Given the description of an element on the screen output the (x, y) to click on. 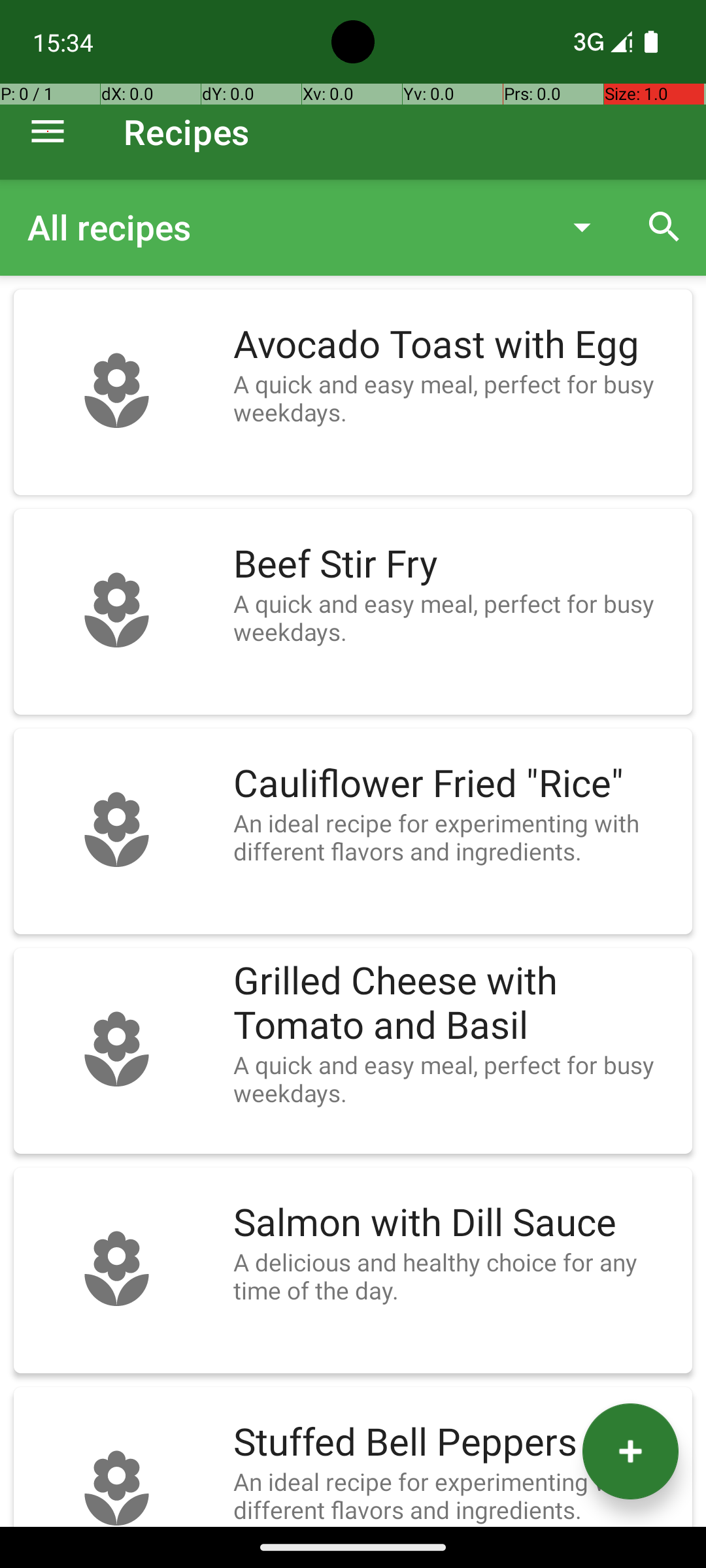
Cauliflower Fried "Rice" Element type: android.widget.TextView (455, 783)
Grilled Cheese with Tomato and Basil Element type: android.widget.TextView (455, 1003)
Salmon with Dill Sauce Element type: android.widget.TextView (455, 1222)
Stuffed Bell Peppers Element type: android.widget.TextView (455, 1442)
